Given the description of an element on the screen output the (x, y) to click on. 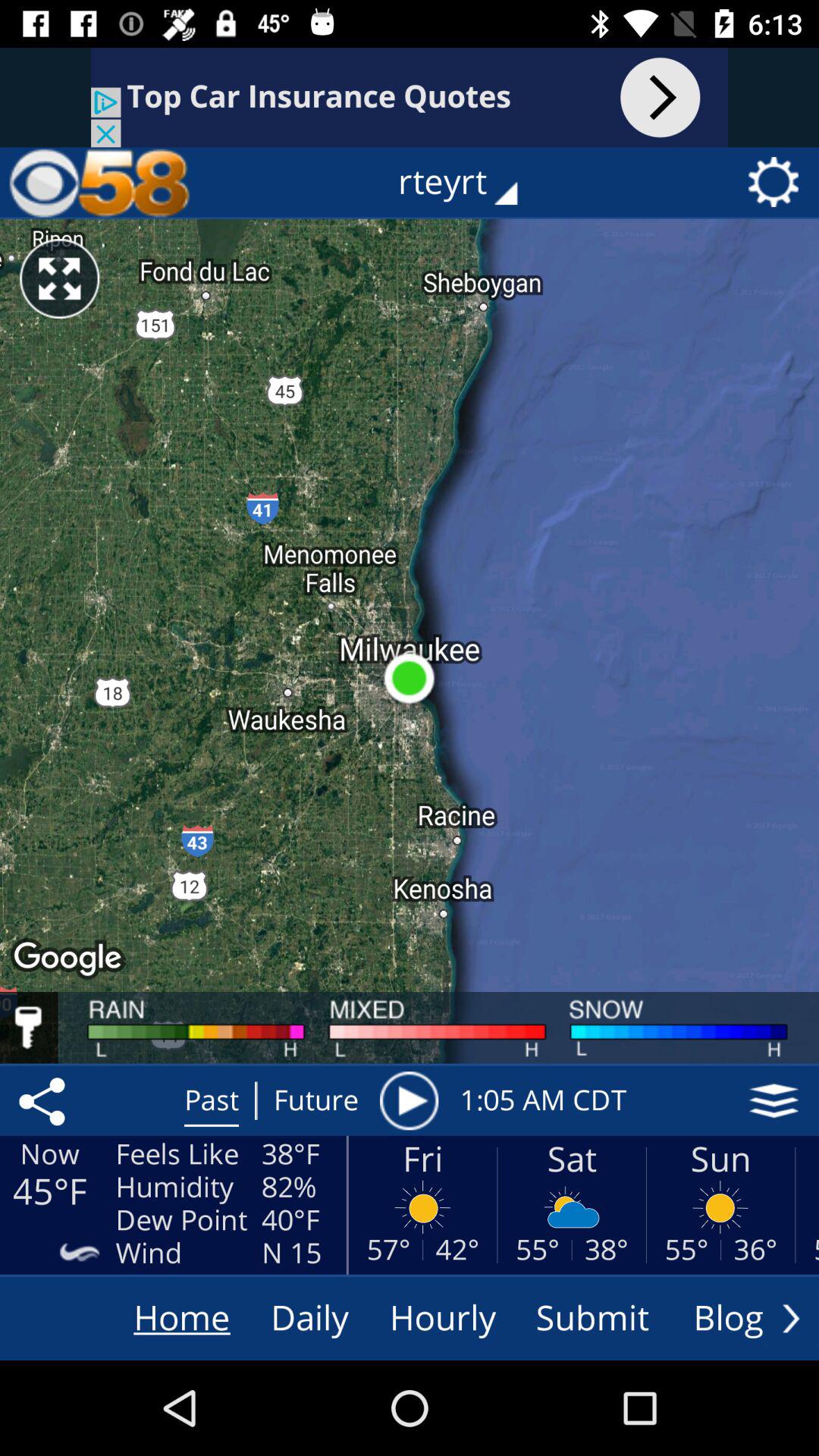
press icon to the right of the 1 05 am (774, 1100)
